Given the description of an element on the screen output the (x, y) to click on. 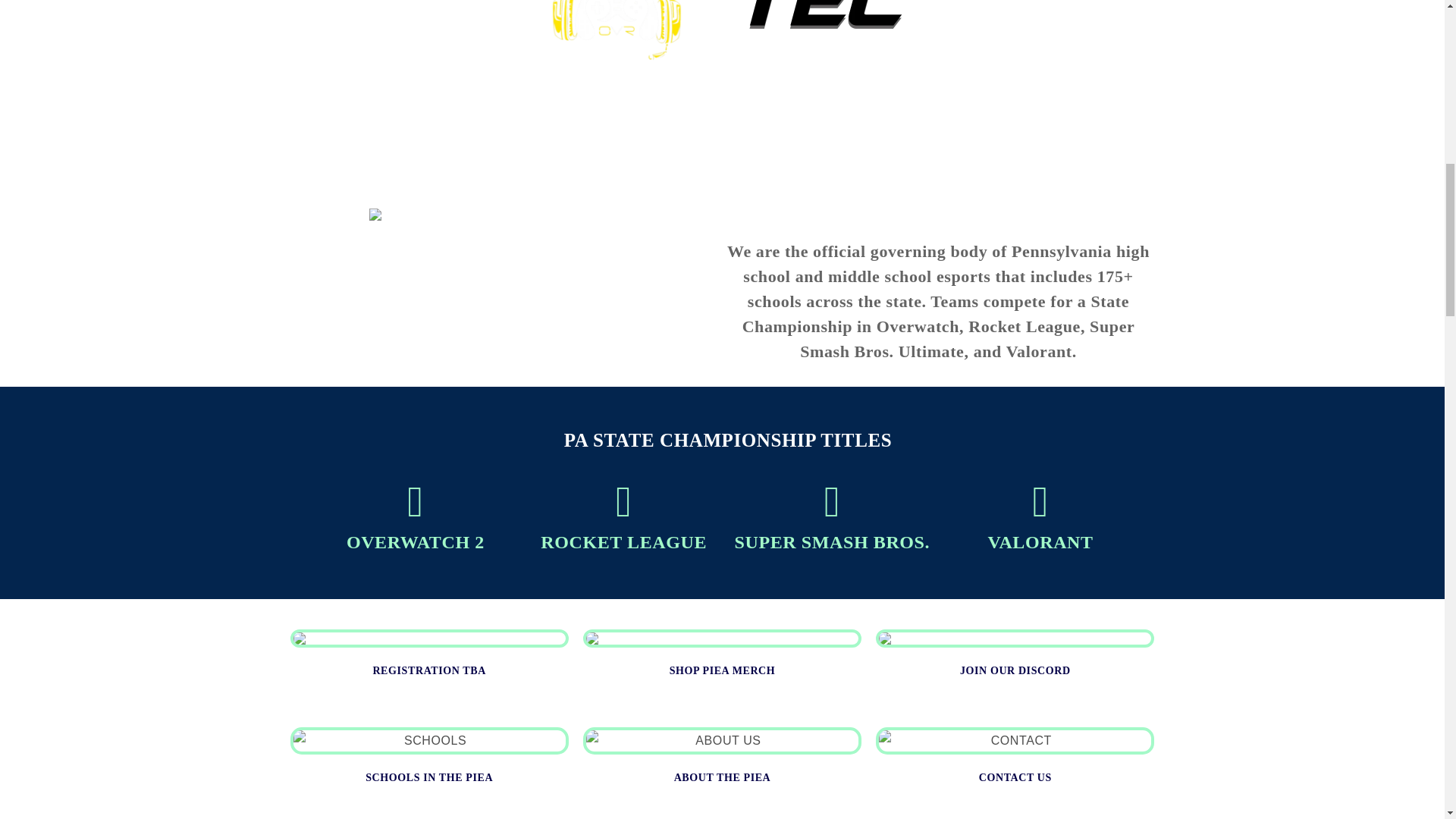
VALORANT (1040, 542)
OVERWATCH 2 (415, 542)
ABOUT US (722, 741)
CONTACT (1015, 741)
ROCKET LEAGUE (623, 542)
SCHOOLS (428, 741)
SUPER SMASH BROS. (832, 542)
